Given the description of an element on the screen output the (x, y) to click on. 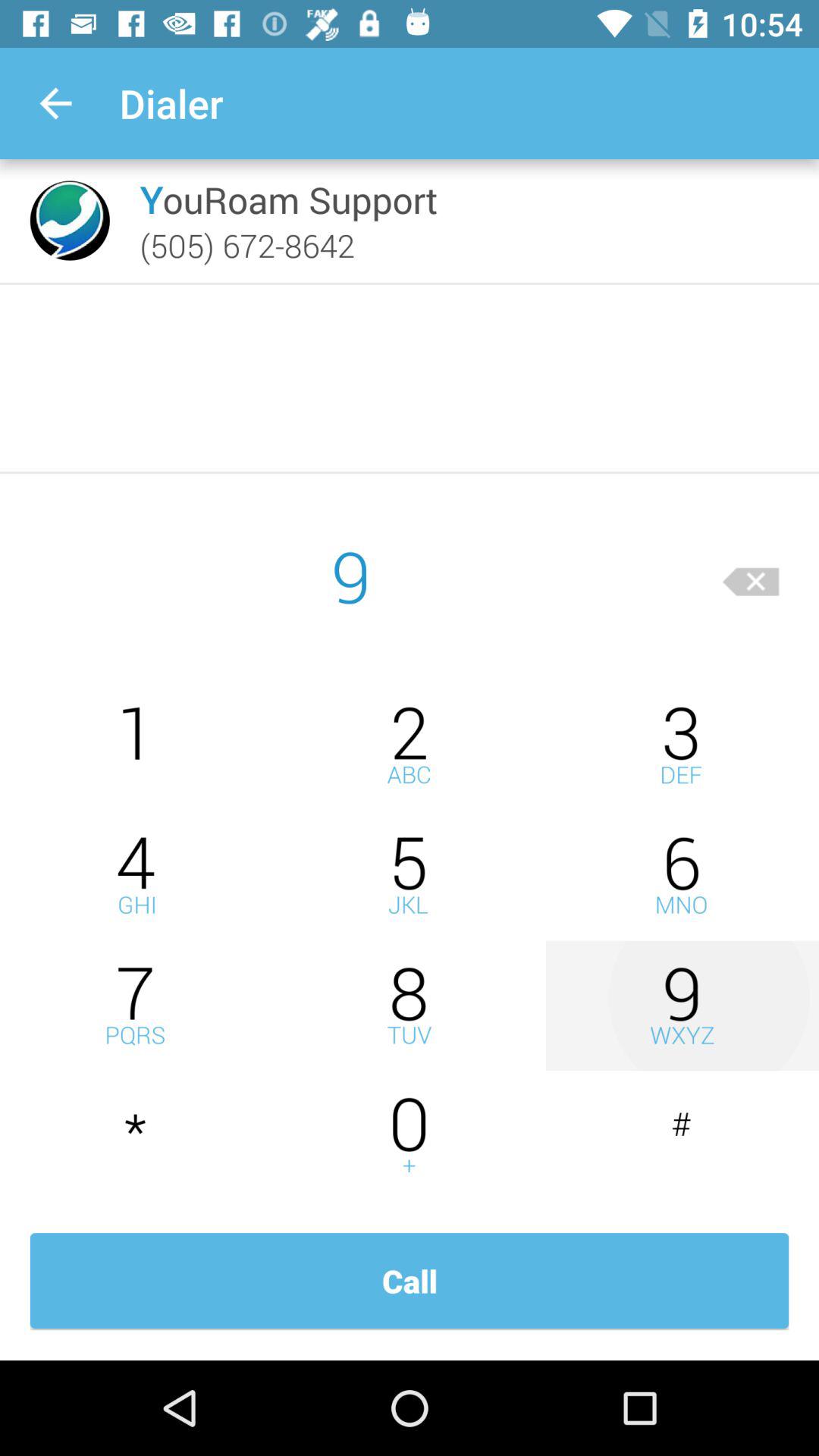
number four (136, 875)
